Given the description of an element on the screen output the (x, y) to click on. 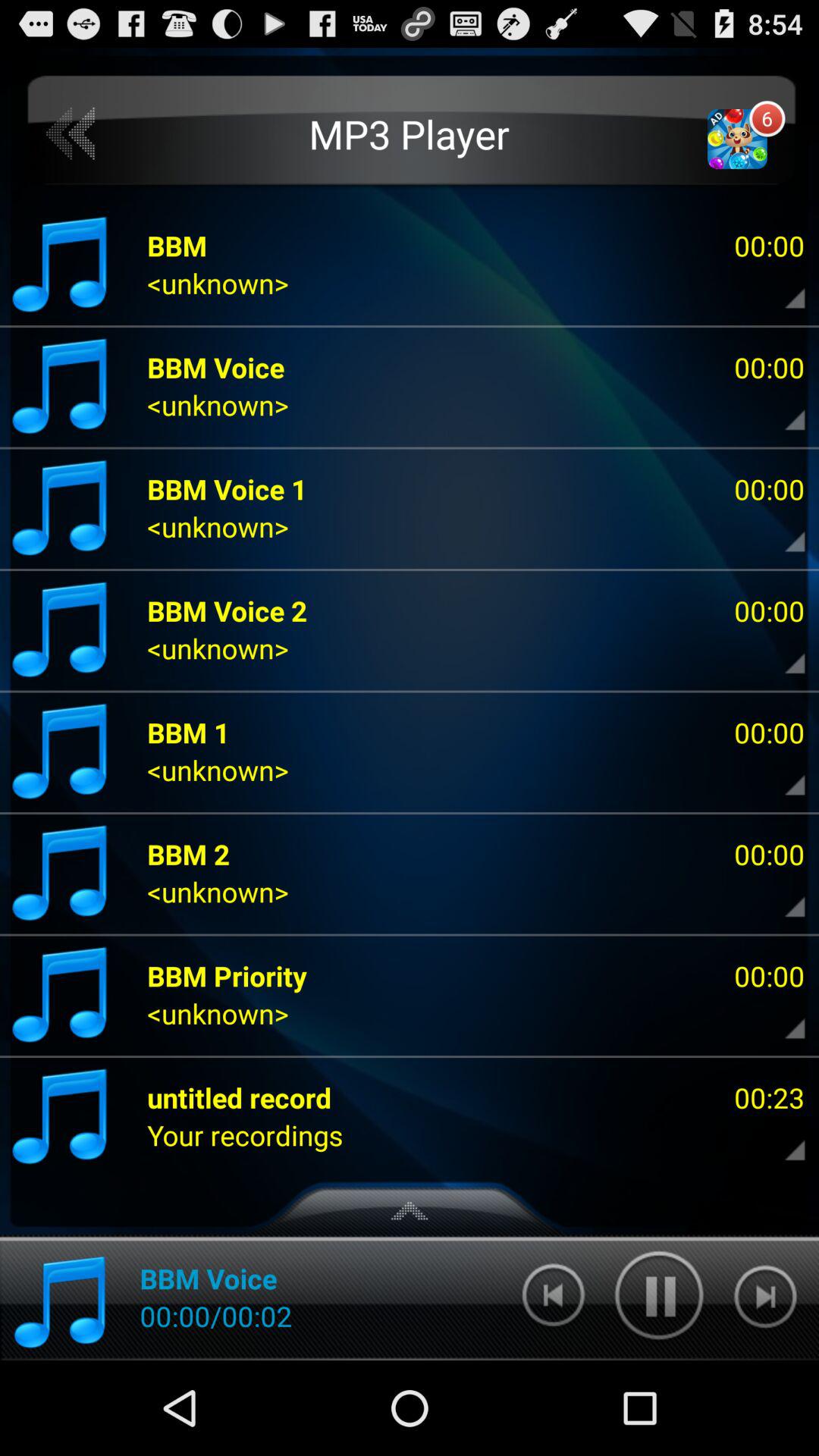
tap app to the left of the 00:23 app (244, 1134)
